Given the description of an element on the screen output the (x, y) to click on. 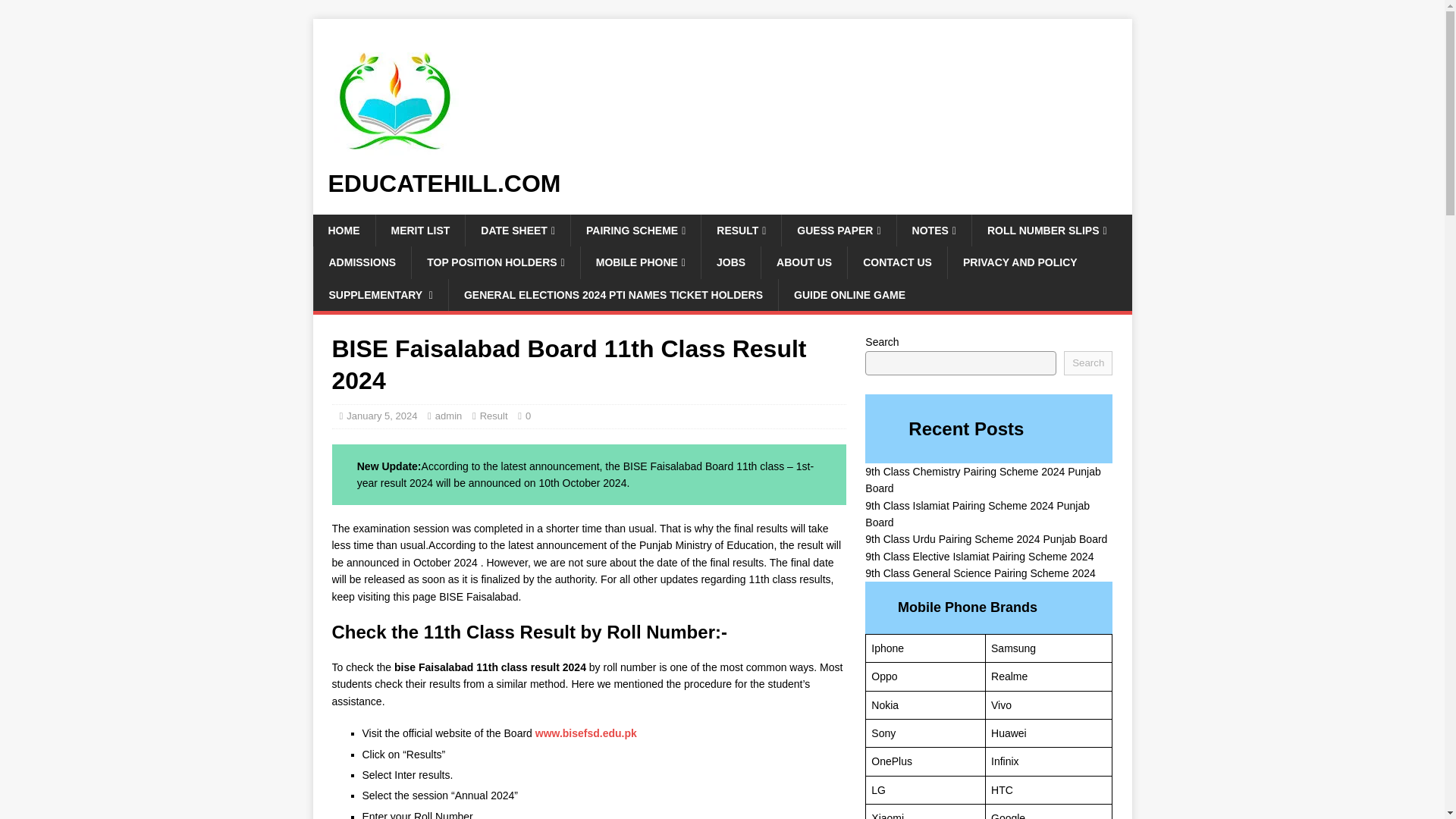
Educatehill.Com (721, 183)
EDUCATEHILL.COM (721, 183)
